Given the description of an element on the screen output the (x, y) to click on. 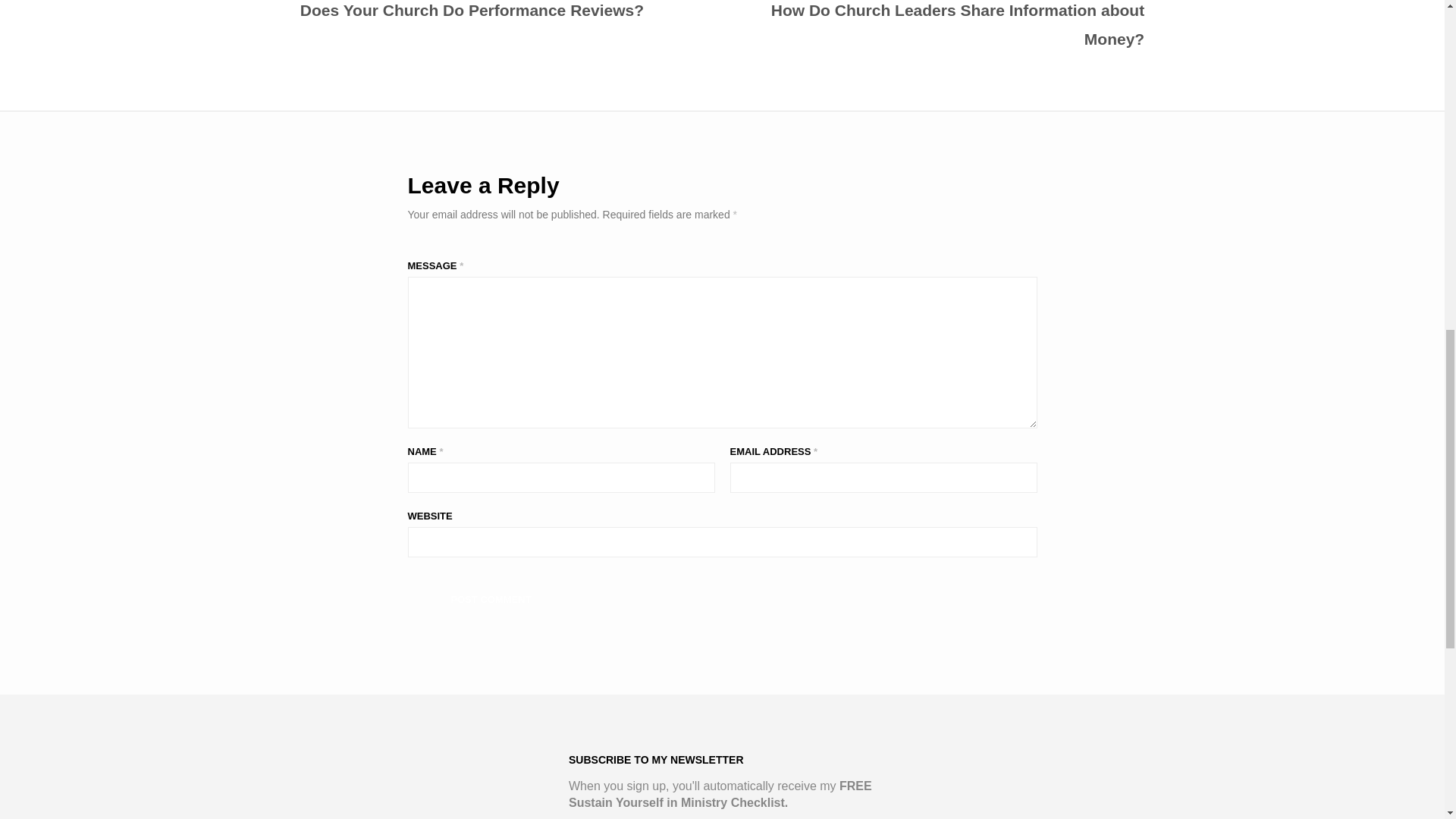
Post Comment (491, 599)
Post Comment (491, 599)
